Given the description of an element on the screen output the (x, y) to click on. 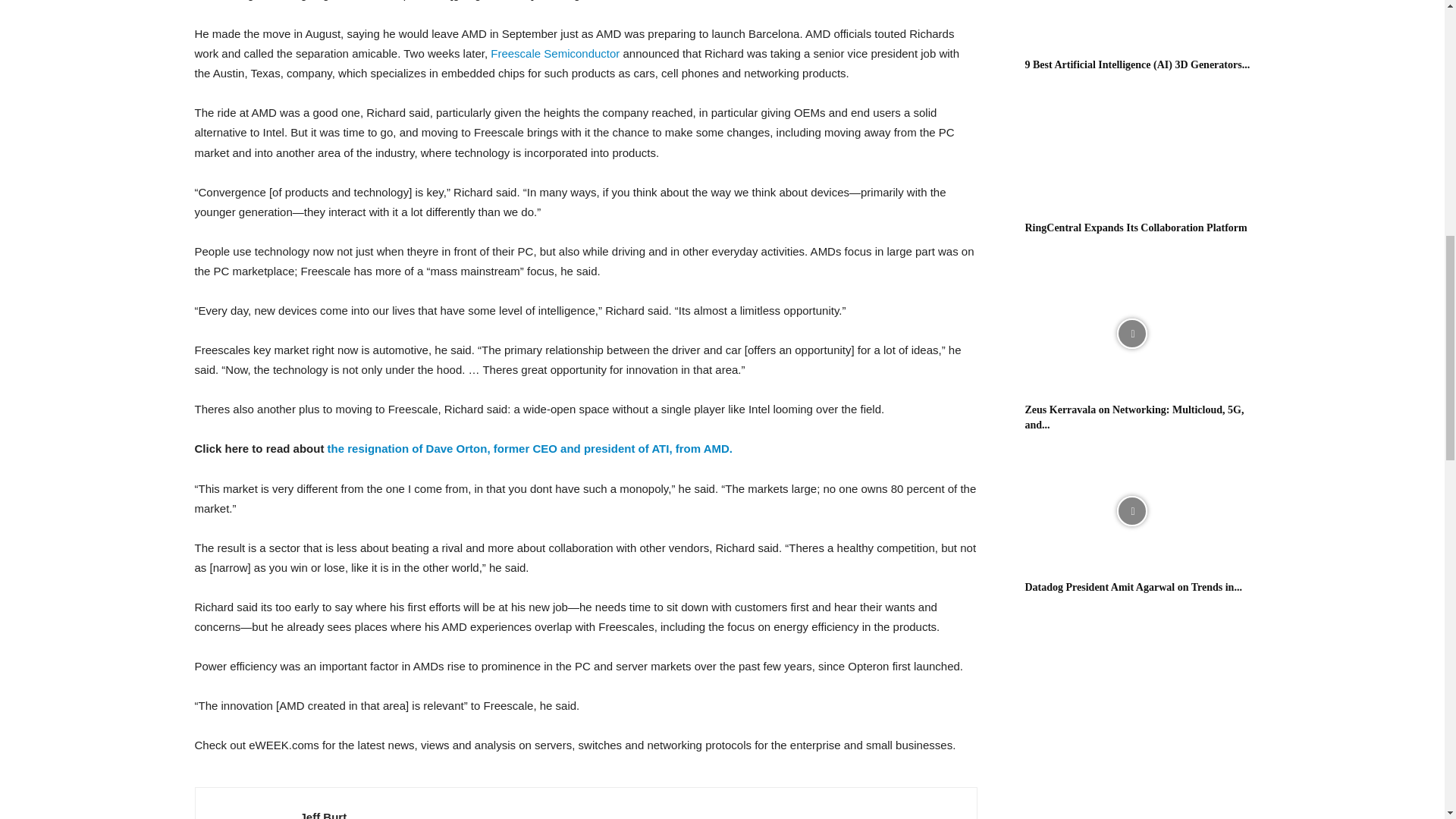
RingCentral Expands Its Collaboration Platform (1131, 151)
Zeus Kerravala on Networking: Multicloud, 5G, and Automation (1131, 333)
RingCentral Expands Its Collaboration Platform (1136, 227)
Zeus Kerravala on Networking: Multicloud, 5G, and Automation (1134, 417)
